Given the description of an element on the screen output the (x, y) to click on. 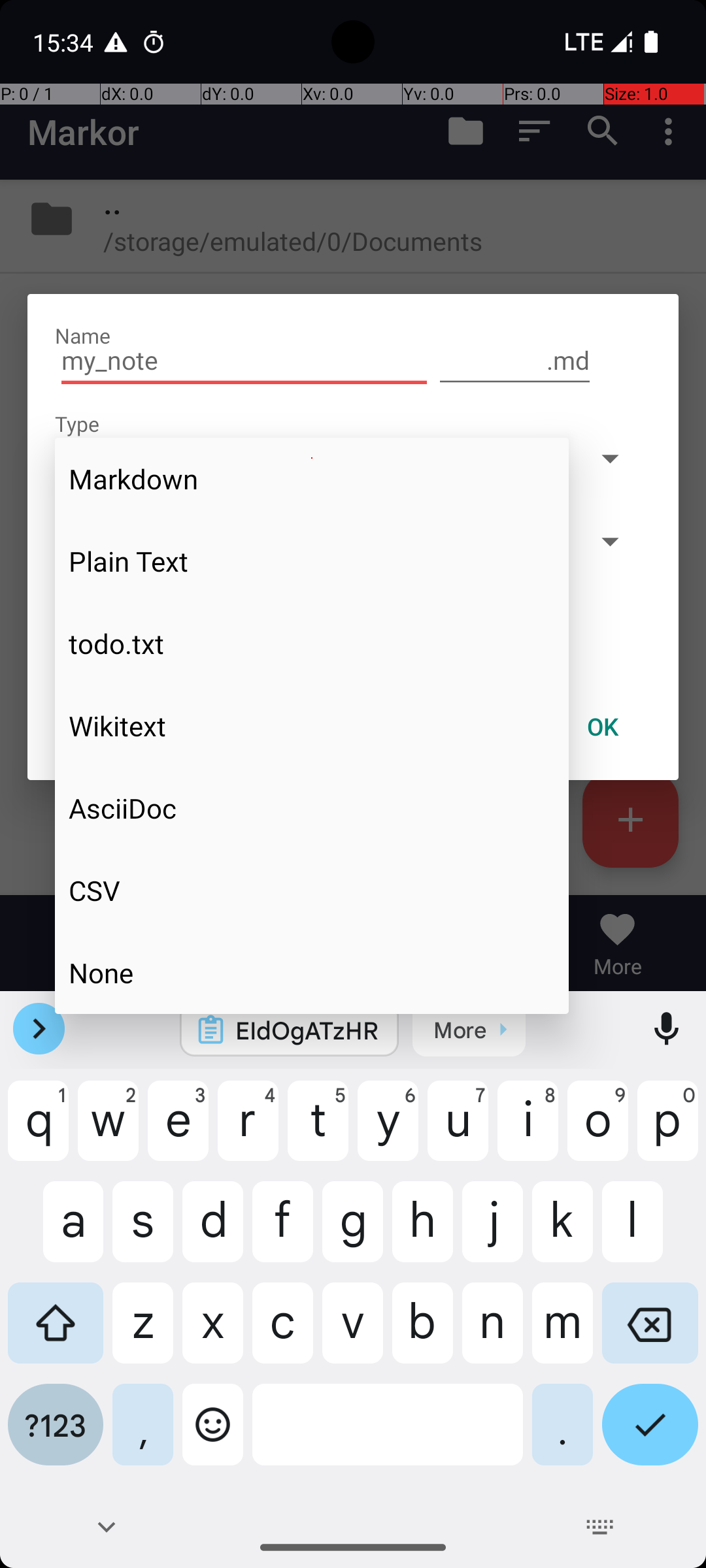
Markdown Element type: android.widget.TextView (311, 478)
Plain Text Element type: android.widget.TextView (311, 561)
todo.txt Element type: android.widget.TextView (311, 643)
Wikitext Element type: android.widget.TextView (311, 725)
AsciiDoc Element type: android.widget.TextView (311, 808)
CSV Element type: android.widget.TextView (311, 890)
None Element type: android.widget.TextView (311, 972)
